Given the description of an element on the screen output the (x, y) to click on. 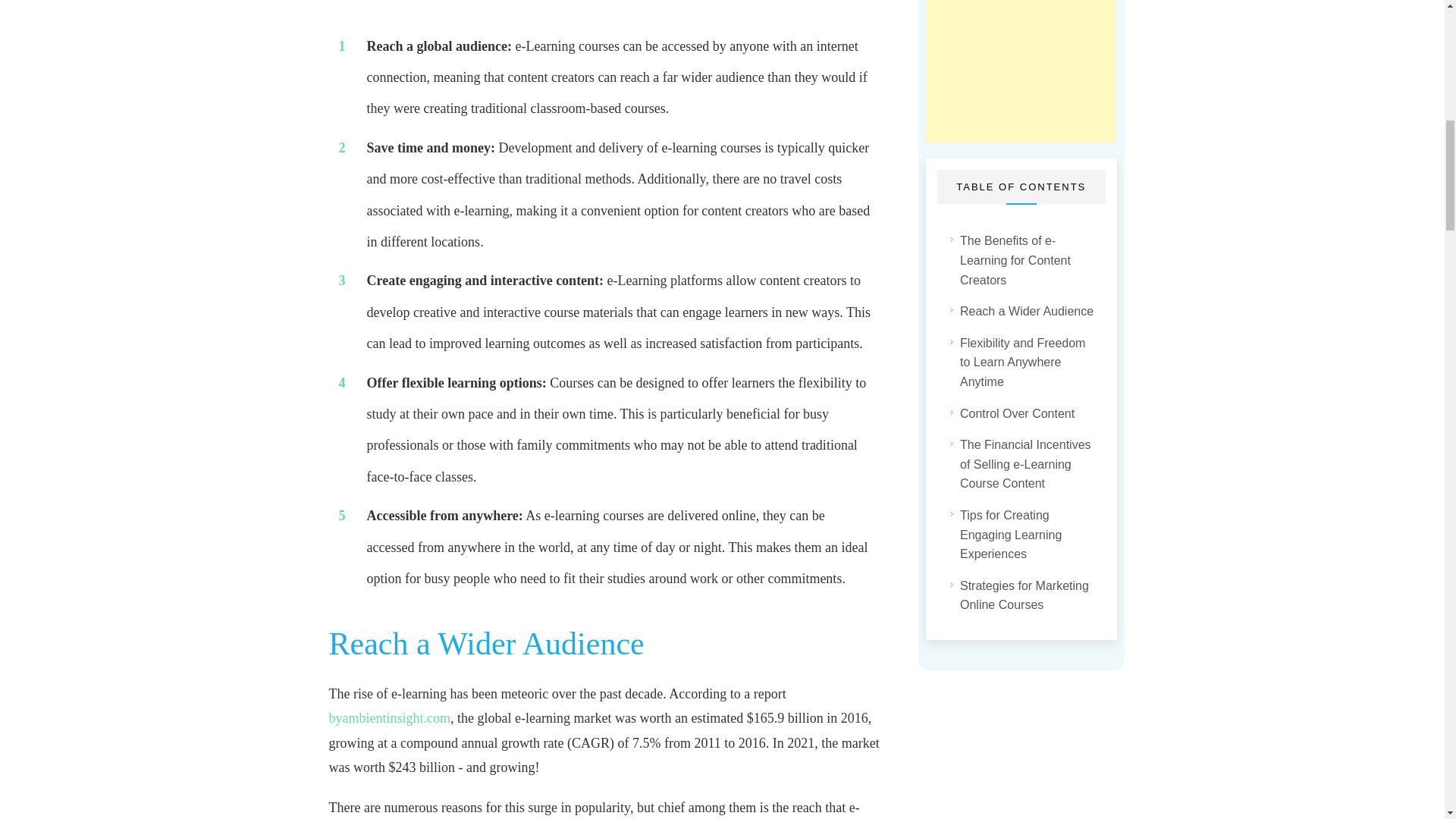
Flexibility and Freedom to Learn Anywhere Anytime (1027, 362)
Tips for Creating Engaging Learning Experiences (1027, 535)
Reach a Wider Audience (1026, 311)
Reach a Wider Audience (1026, 311)
Control Over Content (1016, 414)
Control Over Content (1016, 414)
byambientinsight.com (389, 717)
The Benefits of e-Learning for Content Creators (1027, 259)
The Benefits of e-Learning for Content Creators (1027, 259)
